Given the description of an element on the screen output the (x, y) to click on. 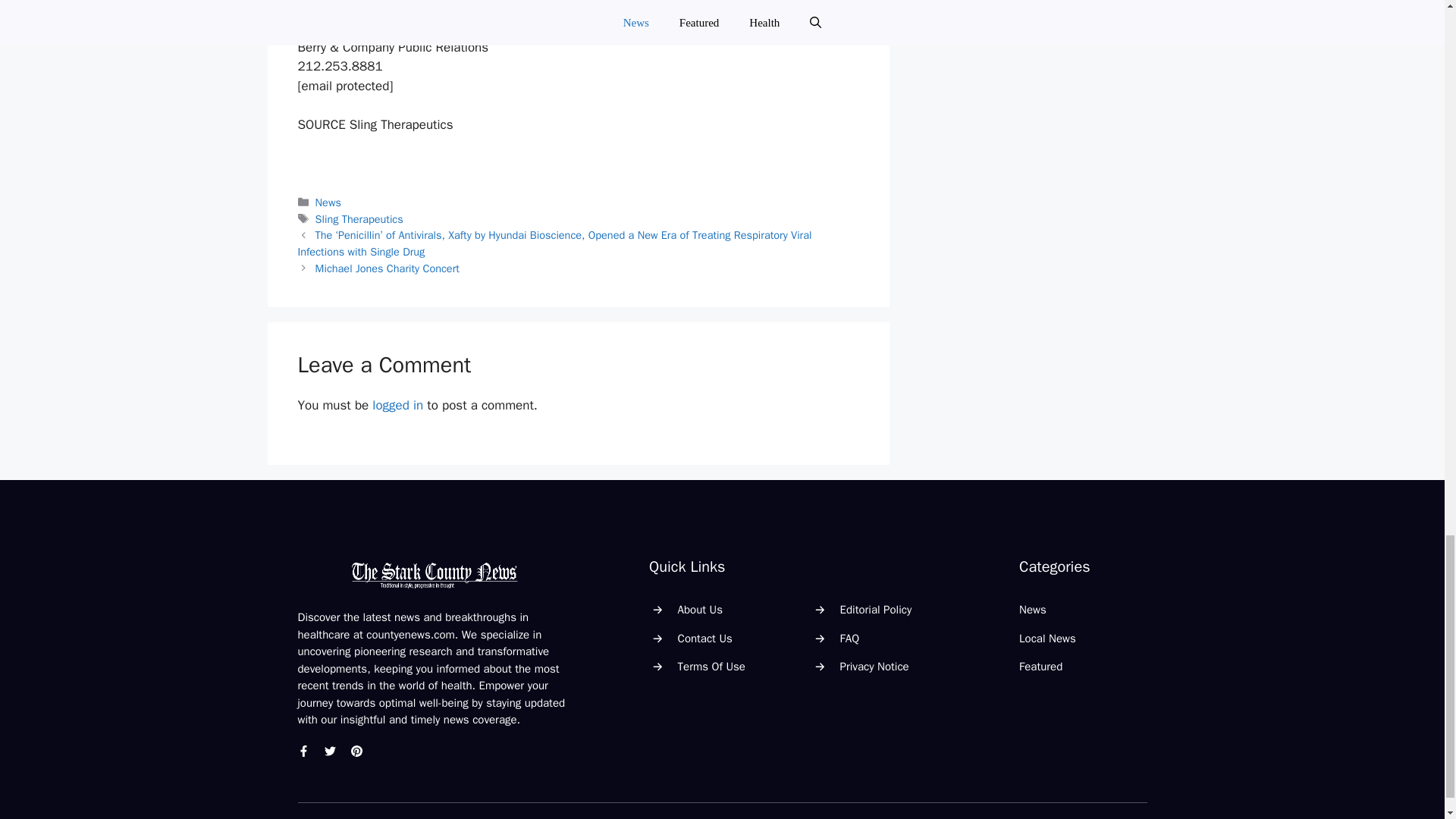
Featured (1040, 666)
News (327, 202)
logo-2-2 (433, 574)
Sling Therapeutics (359, 219)
Michael Jones Charity Concert (387, 268)
Contact Us (705, 638)
News (1032, 609)
Editorial Policy (876, 609)
Privacy Notice (874, 666)
Local News (1047, 638)
